Given the description of an element on the screen output the (x, y) to click on. 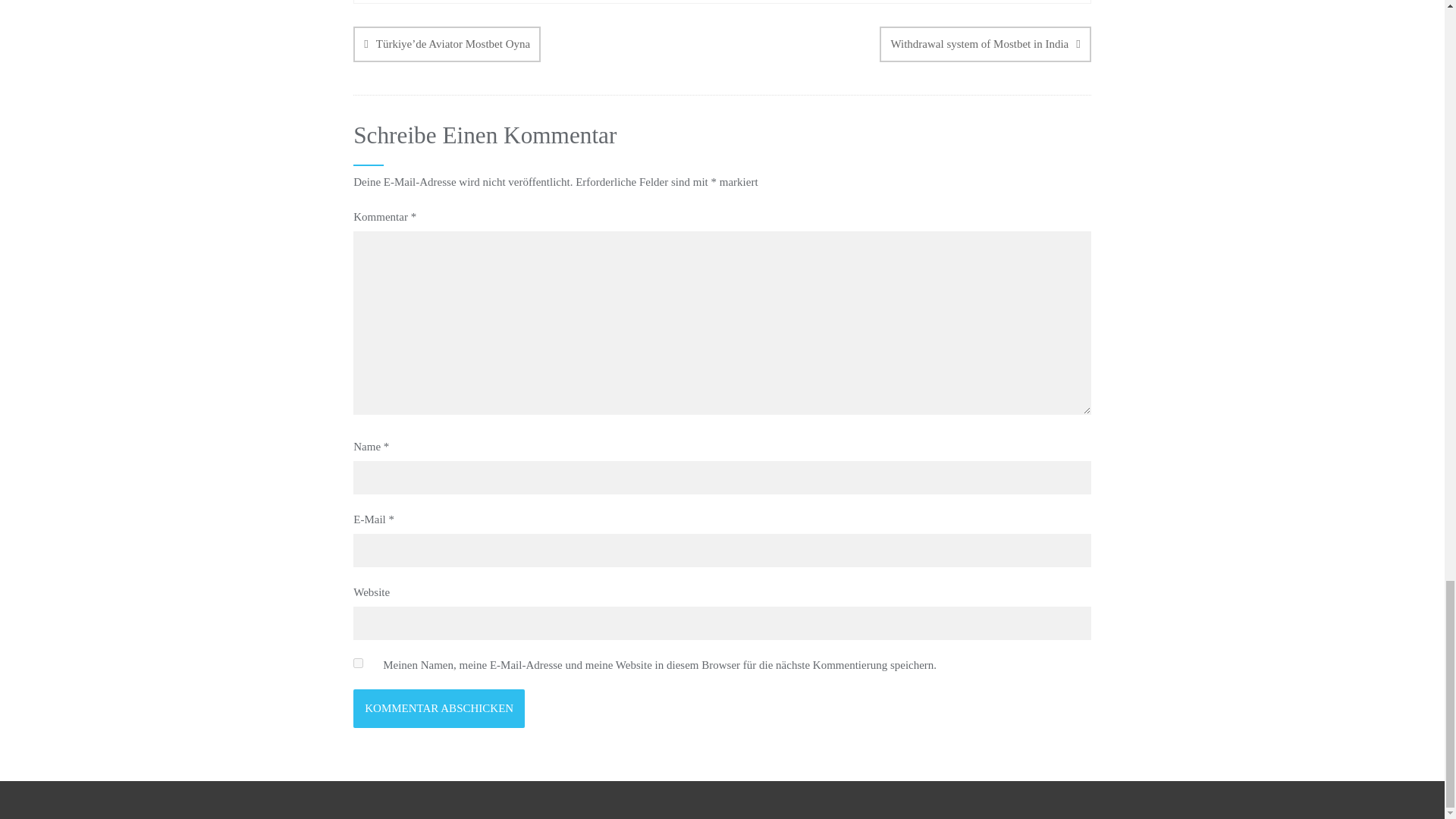
yes (357, 663)
Withdrawal system of Mostbet in India (984, 44)
Kommentar abschicken (438, 708)
Kommentar abschicken (438, 708)
